Given the description of an element on the screen output the (x, y) to click on. 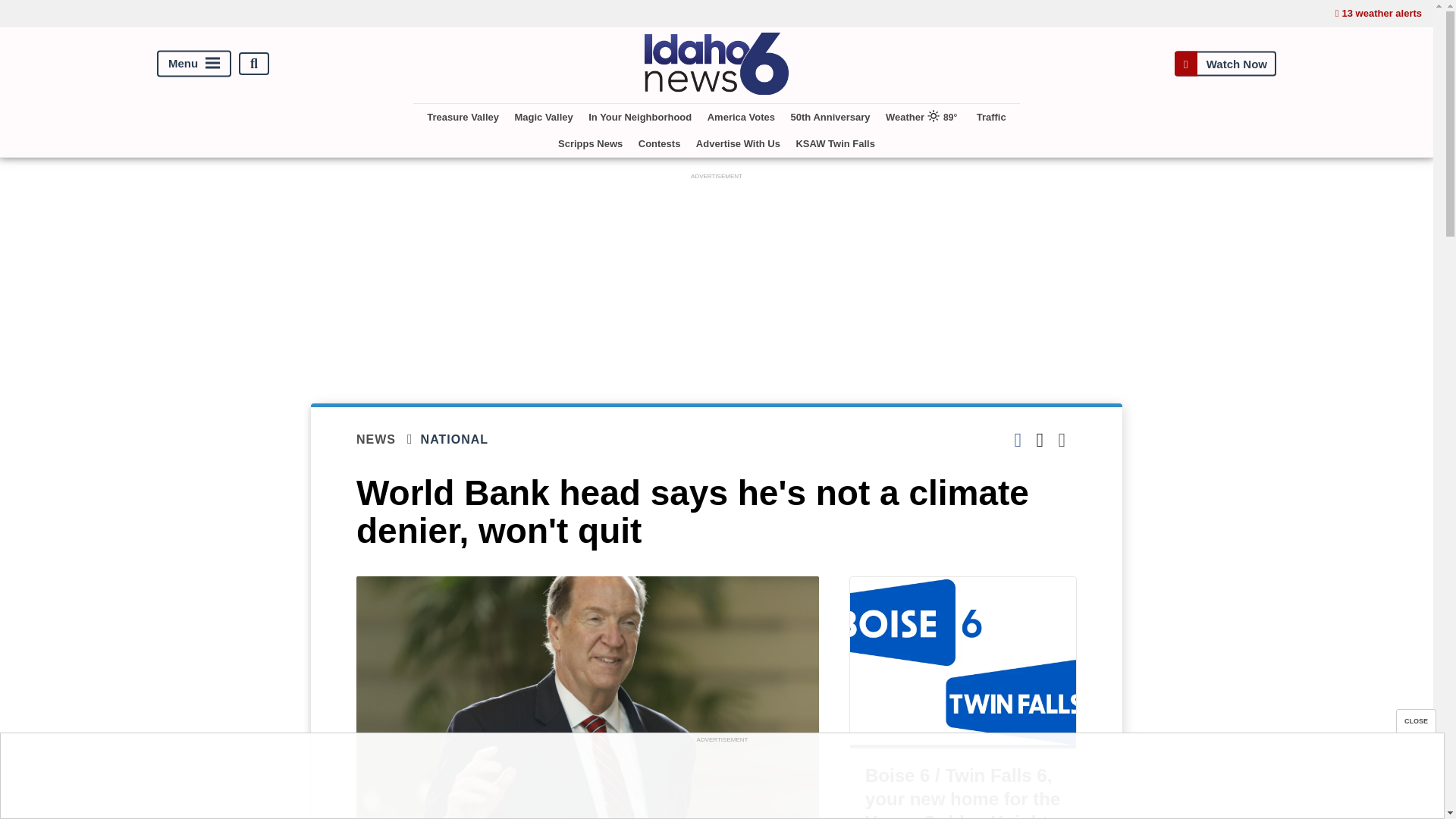
Menu (194, 63)
3rd party ad content (721, 780)
Watch Now (1224, 63)
